Given the description of an element on the screen output the (x, y) to click on. 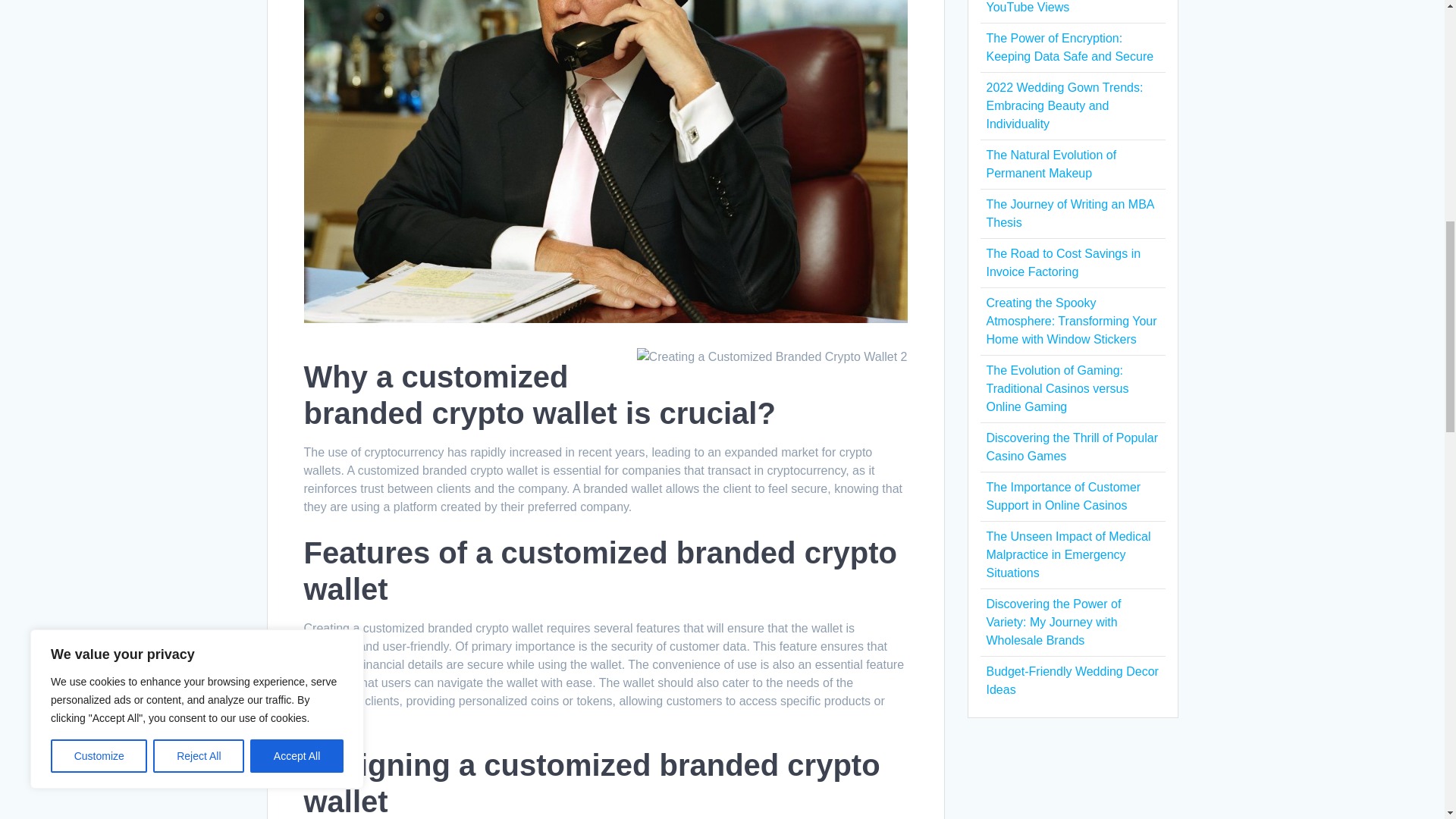
The Power of Encryption: Keeping Data Safe and Secure (1069, 47)
functional (328, 645)
The Journey of Writing an MBA Thesis (1069, 213)
2022 Wedding Gown Trends: Embracing Beauty and Individuality (1063, 105)
The Natural Evolution of Permanent Makeup (1050, 163)
